Given the description of an element on the screen output the (x, y) to click on. 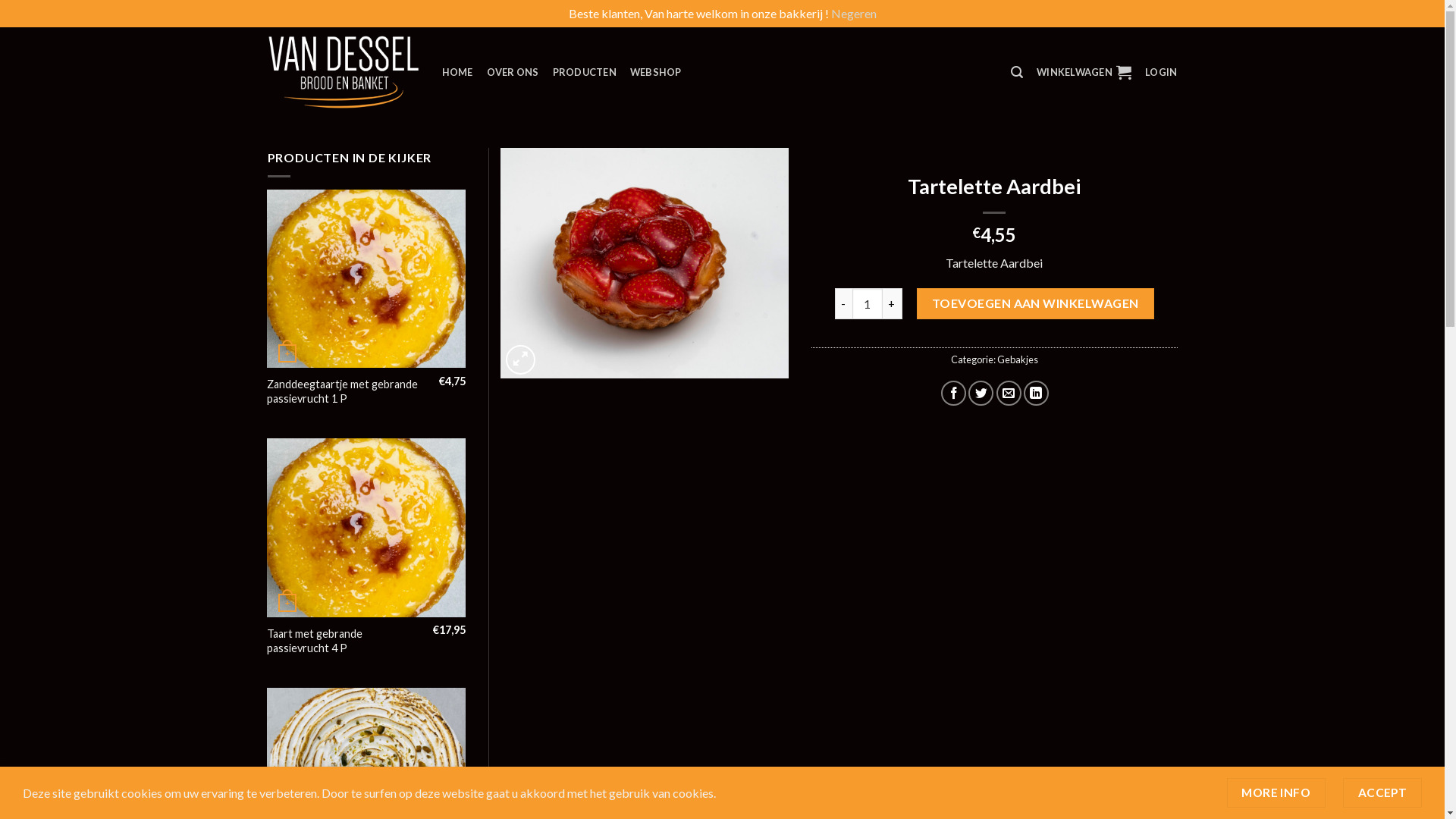
LOGIN Element type: text (1160, 71)
Taart met gebrande passievrucht 4 P Element type: text (343, 641)
Negeren Element type: text (853, 13)
OVER ONS Element type: text (512, 71)
MORE INFO Element type: text (1275, 792)
Bakkerij Van Dessel - Brood en banket op grootvaders wijze Element type: hover (342, 72)
Share on Facebook Element type: hover (953, 392)
PRODUCTEN Element type: text (584, 71)
HOME Element type: text (456, 71)
Zoom Element type: hover (520, 359)
Share on Twitter Element type: hover (980, 392)
Share on LinkedIn Element type: hover (1035, 392)
WINKELWAGEN Element type: text (1083, 71)
WEBSHOP Element type: text (655, 71)
Gebakjes Element type: text (1017, 359)
ACCEPT Element type: text (1382, 792)
Zanddeegtaartje met gebrande passievrucht 1 P Element type: text (346, 391)
Email to a Friend Element type: hover (1008, 392)
TOEVOEGEN AAN WINKELWAGEN Element type: text (1035, 303)
